Given the description of an element on the screen output the (x, y) to click on. 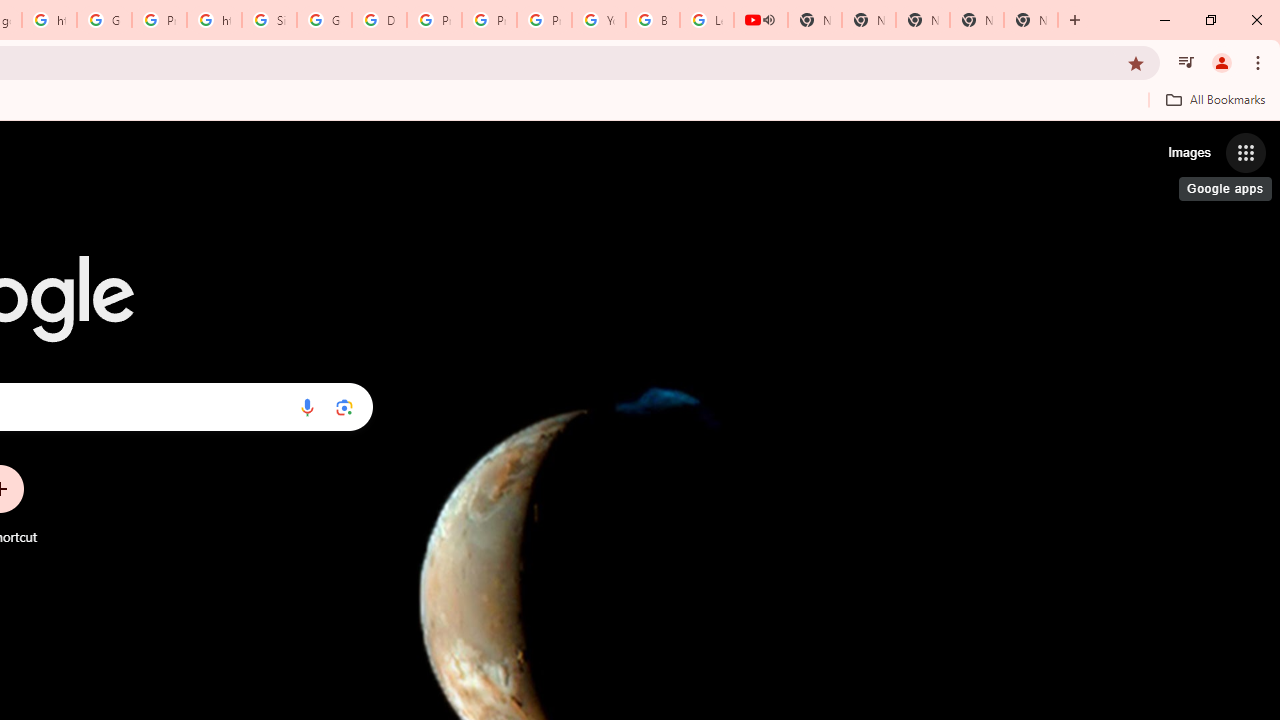
https://scholar.google.com/ (48, 20)
https://scholar.google.com/ (213, 20)
Privacy Help Center - Policies Help (489, 20)
New Tab (1030, 20)
